Given the description of an element on the screen output the (x, y) to click on. 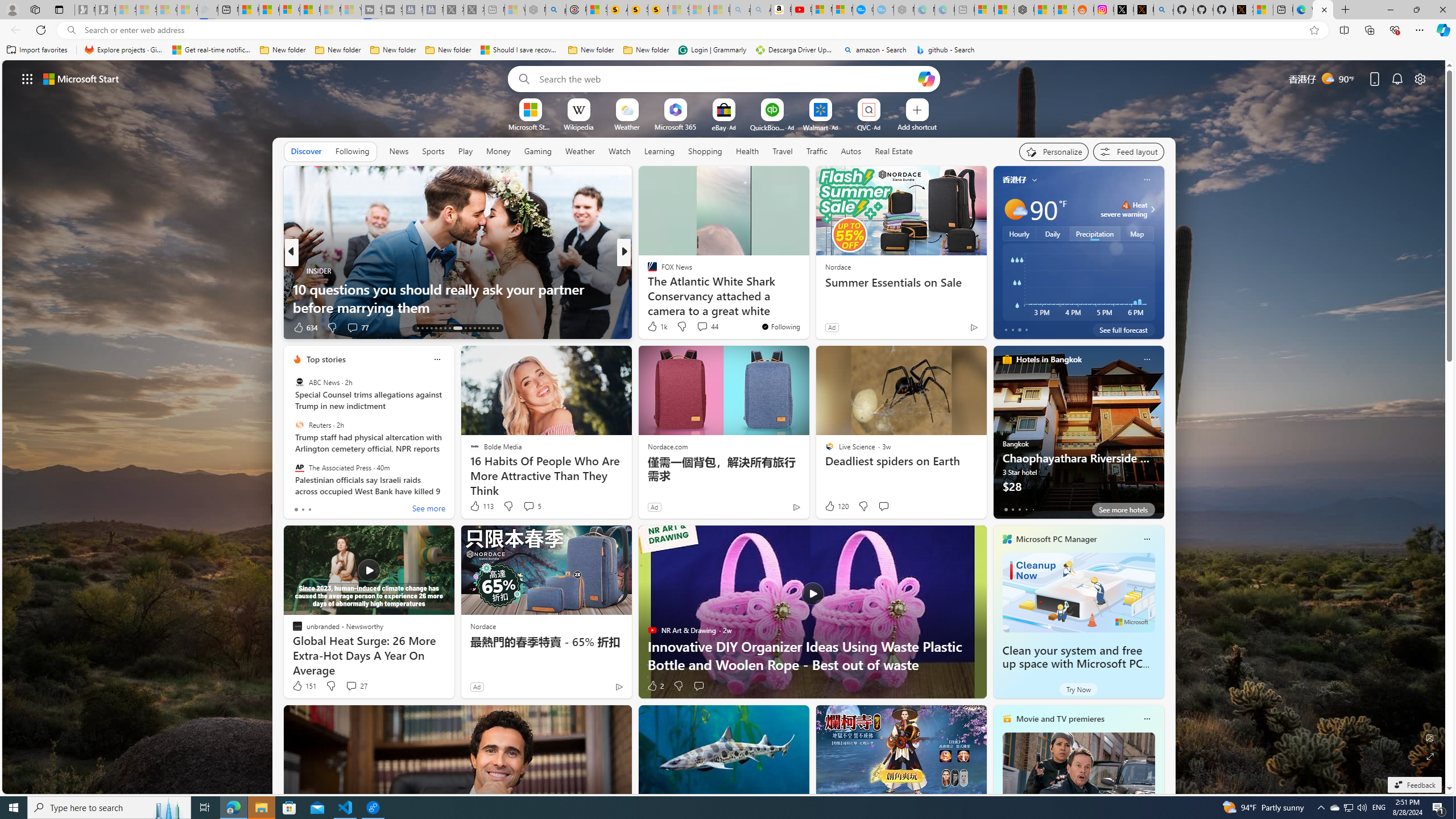
X Privacy Policy (1242, 9)
AutomationID: tab-19 (444, 328)
View comments 27 Comment (350, 685)
Microsoft PC Manager (1056, 538)
39 Like (652, 327)
Learning (658, 151)
Edit Background (1430, 737)
AutomationID: backgroundImagePicture (723, 426)
